Given the description of an element on the screen output the (x, y) to click on. 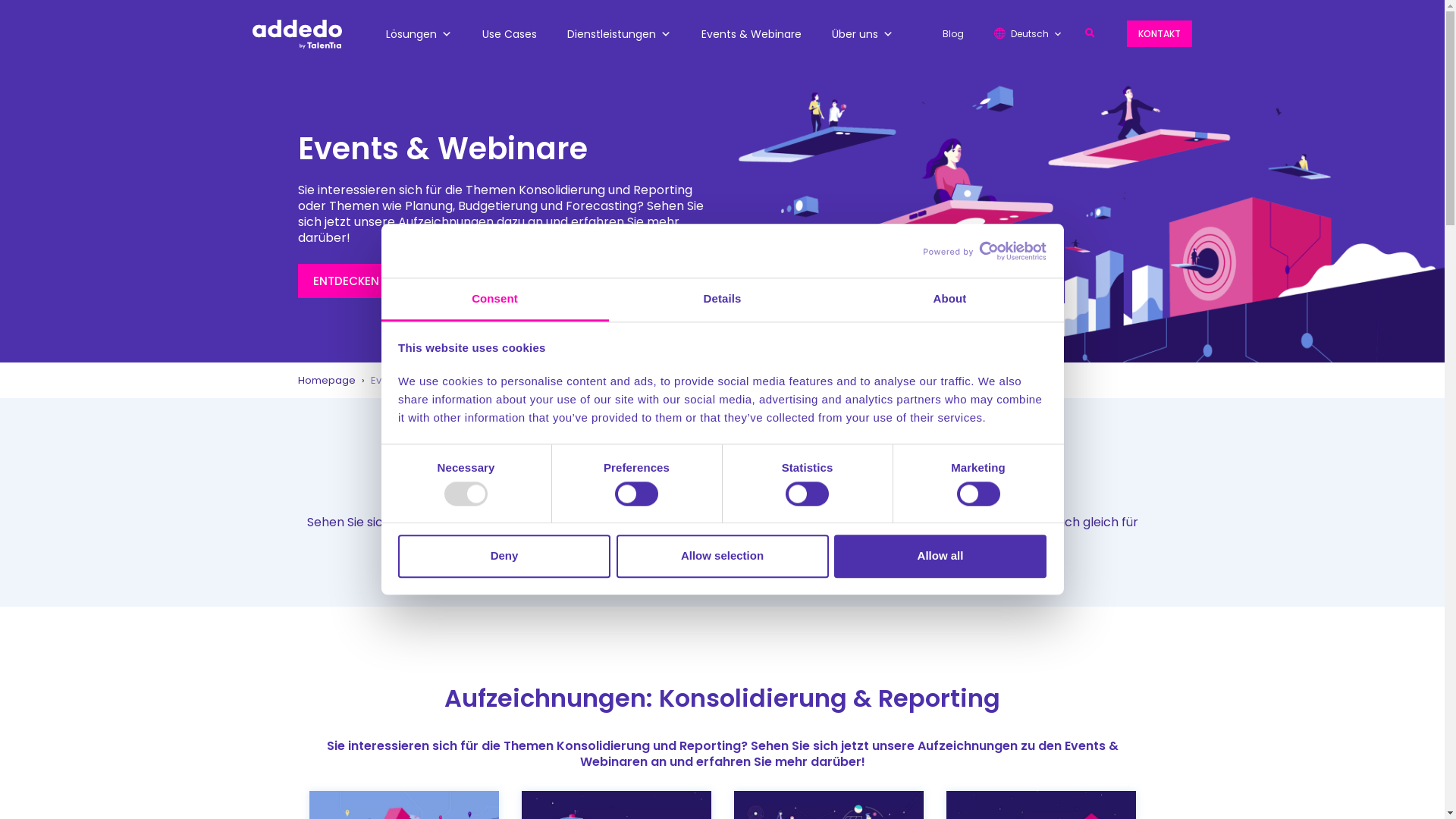
ENTDECKEN SIE UNSERE WEBINAR AUFZEICHNUNGEN Element type: text (456, 280)
Homepage Element type: text (327, 380)
Deny Element type: text (504, 556)
Consent Element type: text (494, 299)
KONTAKT Element type: text (1159, 33)
Deutsch Element type: text (1028, 34)
Logo_Addedo-by-Talentia Element type: hover (296, 34)
Allow all Element type: text (940, 556)
Allow selection Element type: text (721, 556)
Use Cases Element type: text (509, 34)
Details Element type: text (721, 299)
Blog Element type: text (952, 34)
About Element type: text (949, 299)
Dienstleistungen Element type: text (619, 34)
Events & Webinare Element type: text (751, 34)
